Given the description of an element on the screen output the (x, y) to click on. 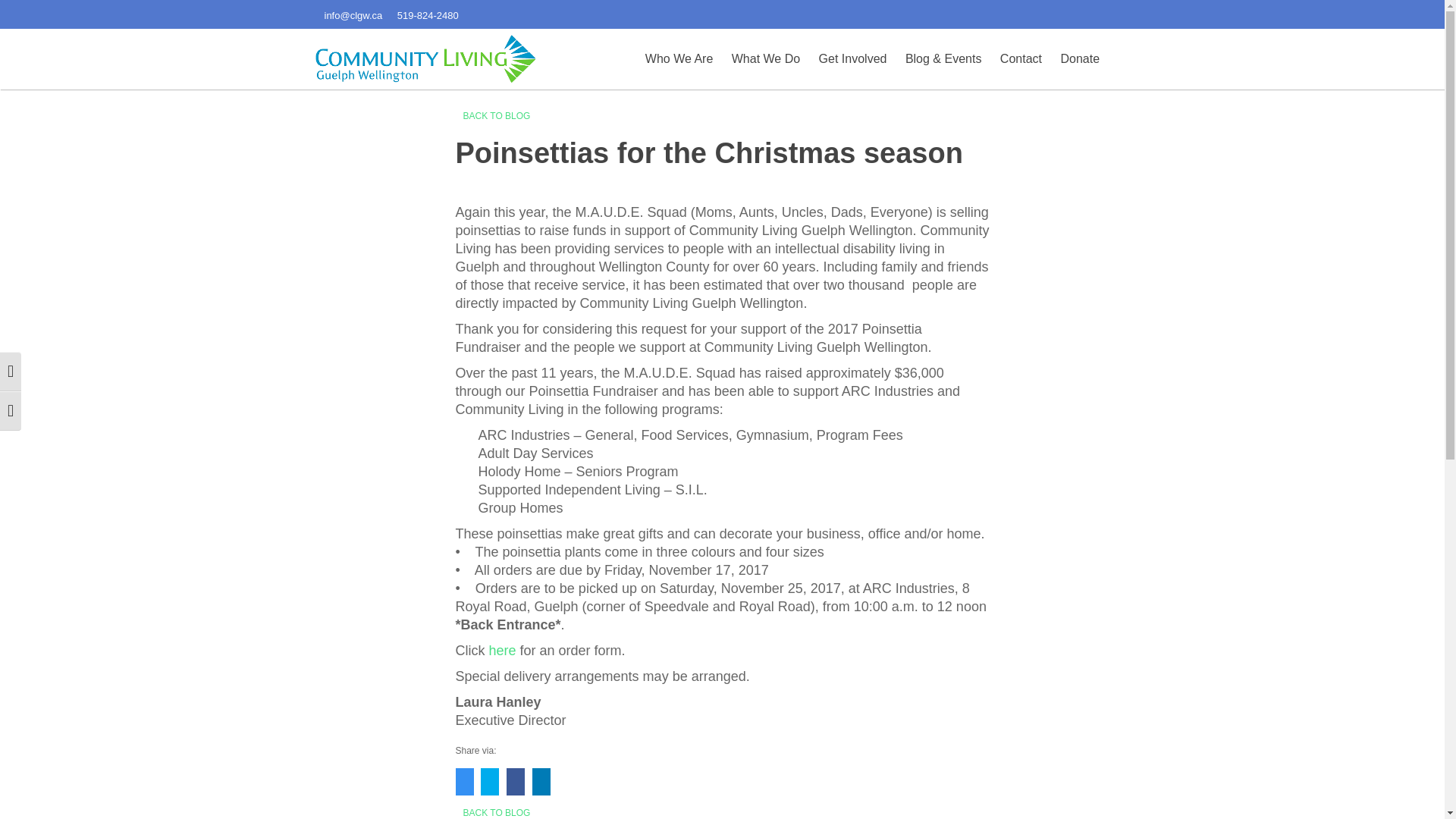
What We Do (765, 58)
519-824-2480 (427, 14)
Toggle High Contrast (10, 371)
Toggle Font size (10, 410)
Who We Are (679, 58)
Contact (1021, 58)
Donate (1079, 58)
Get Involved (852, 58)
